Given the description of an element on the screen output the (x, y) to click on. 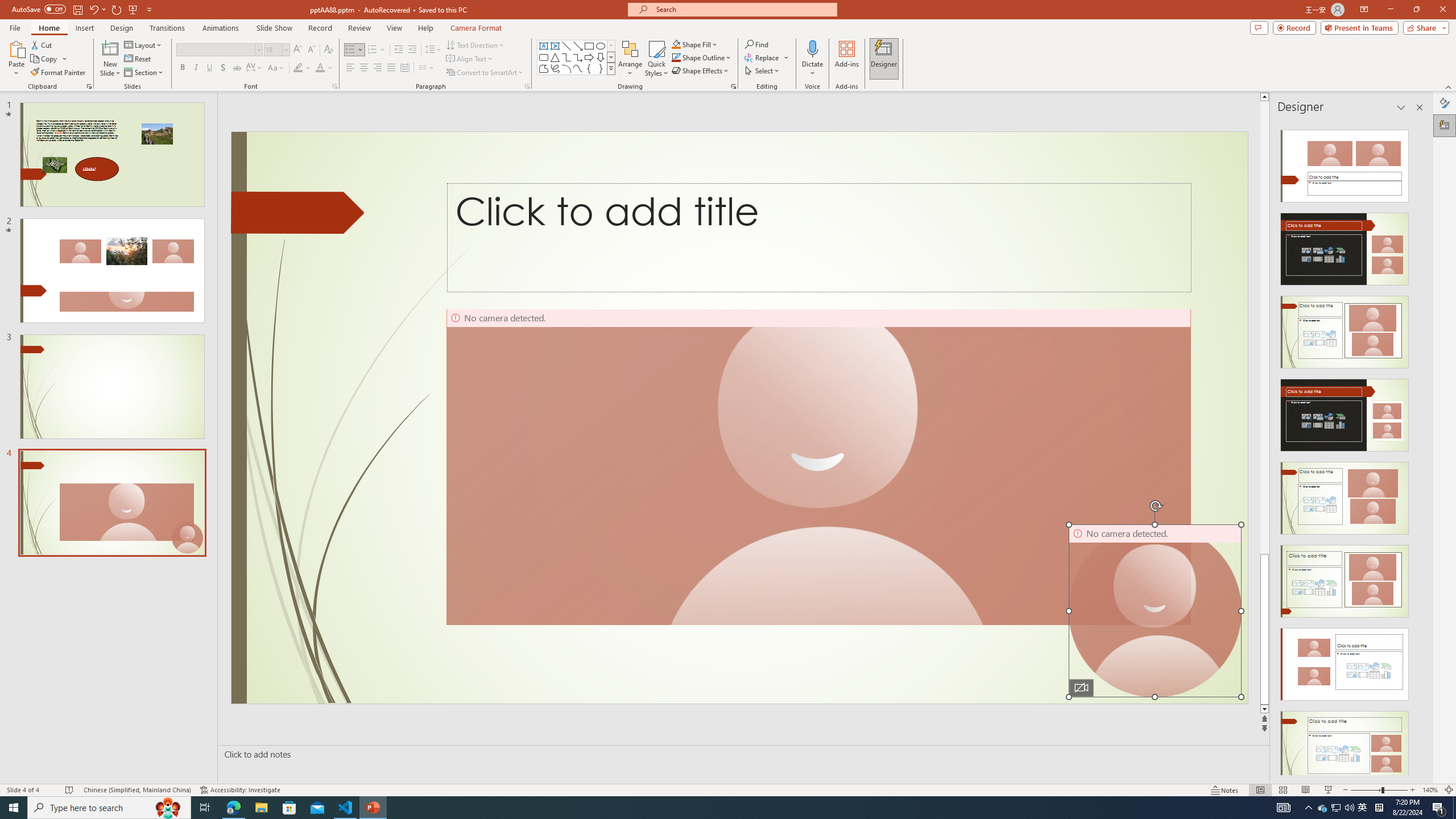
Record (1294, 27)
Copy (45, 58)
Format Background (1444, 102)
Rectangle (589, 45)
Clear Formatting (327, 49)
Class: NetUIScrollBar (1418, 447)
Oval (600, 45)
AutomationID: ShapesInsertGallery (576, 57)
Record (320, 28)
Arrow: Right (589, 57)
Normal (1260, 790)
Text Highlight Color (302, 67)
Dictate (812, 48)
Increase Indent (412, 49)
Left Brace (589, 68)
